Given the description of an element on the screen output the (x, y) to click on. 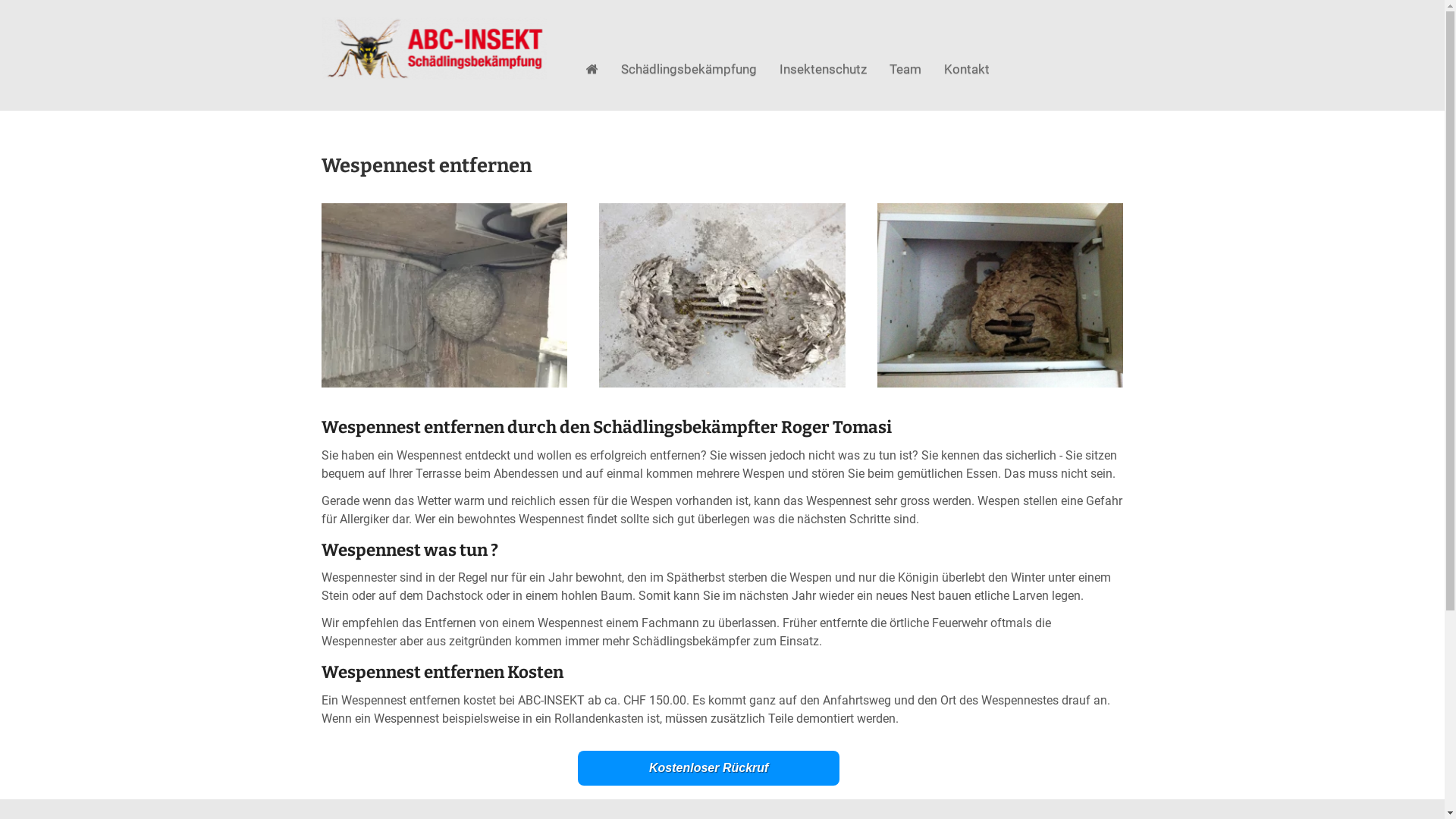
Insektenschutz Element type: text (822, 69)
Team Element type: text (904, 69)
Kontakt Element type: text (966, 69)
